Given the description of an element on the screen output the (x, y) to click on. 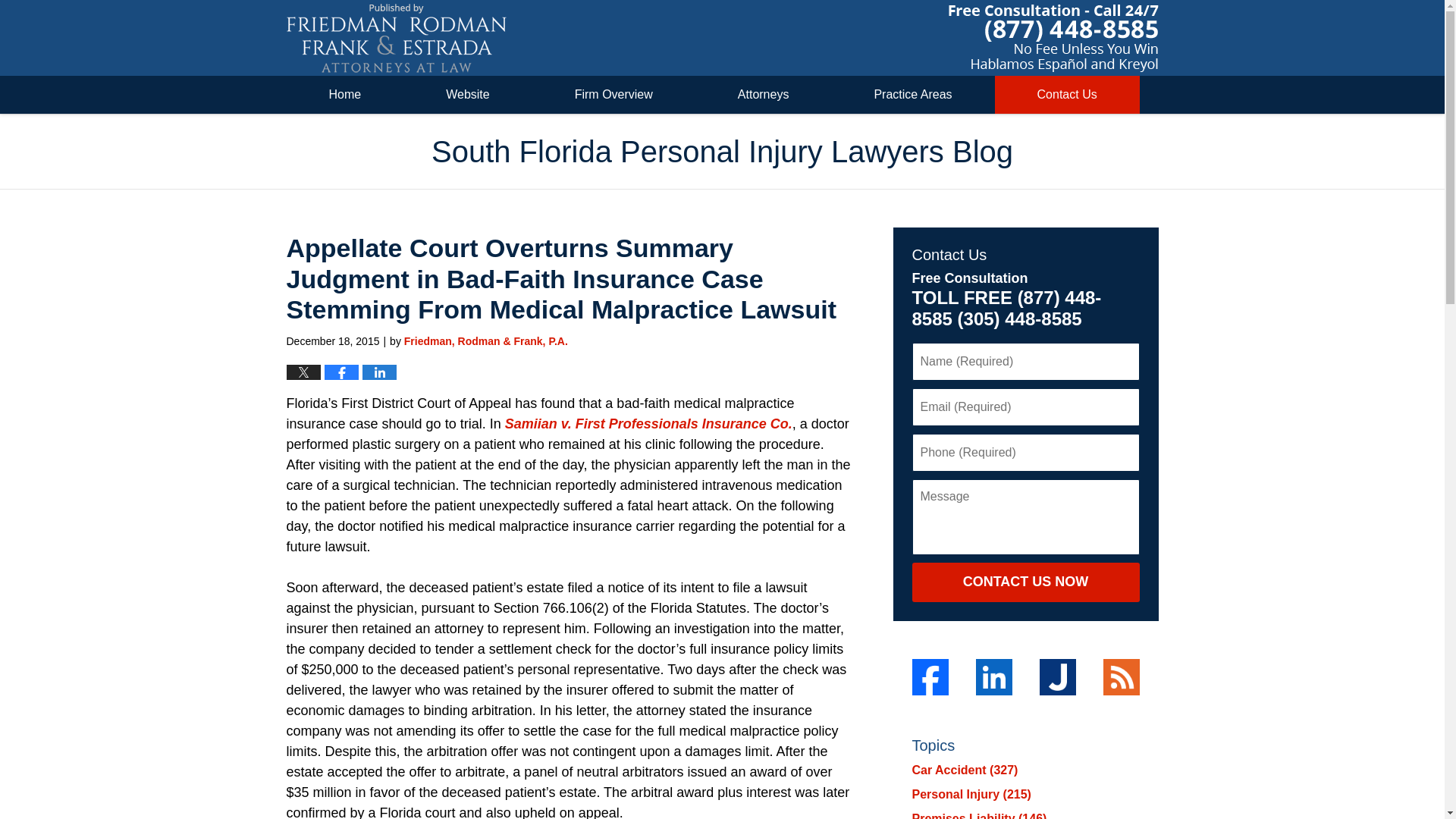
South Florida Personal Injury Lawyers Blog (396, 37)
Justia (1057, 677)
Contact Us (1067, 94)
Facebook (929, 677)
Attorneys (763, 94)
CONTACT US NOW (1024, 581)
LinkedIn (993, 677)
Please enter a valid phone number. (1024, 452)
Samiian v. First Professionals Insurance Co. (648, 423)
Firm Overview (613, 94)
Home (345, 94)
Practice Areas (912, 94)
Website (467, 94)
Feed (1120, 677)
